Given the description of an element on the screen output the (x, y) to click on. 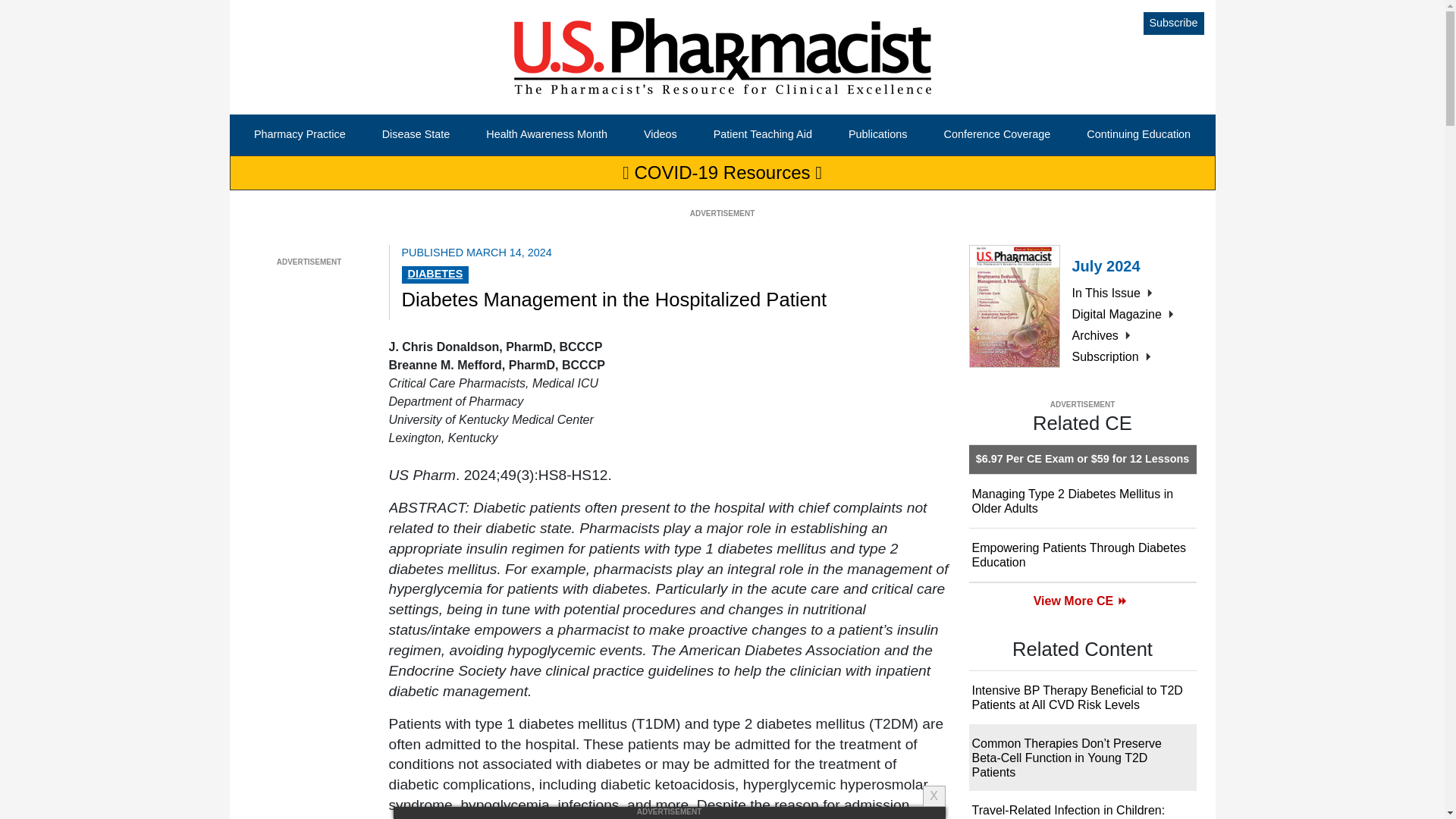
Pharmacy Practice (299, 134)
Disease State (416, 134)
Subscribe (1173, 23)
